Given the description of an element on the screen output the (x, y) to click on. 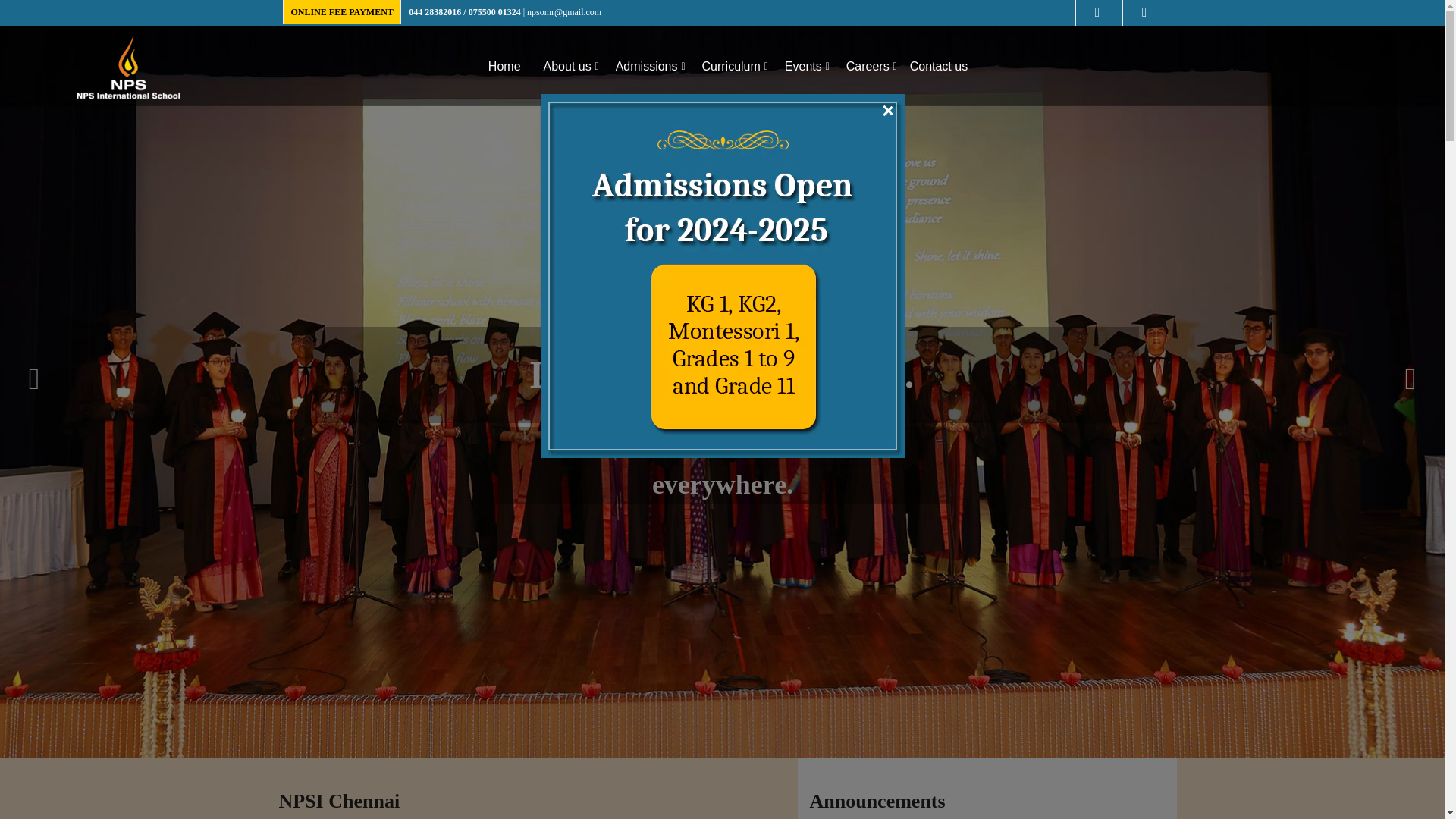
Curriculum (731, 66)
About us (567, 66)
Events (803, 66)
Home (504, 66)
CLOSE (886, 110)
ONLINE FEE PAYMENT (342, 11)
Admissions (647, 66)
